Given the description of an element on the screen output the (x, y) to click on. 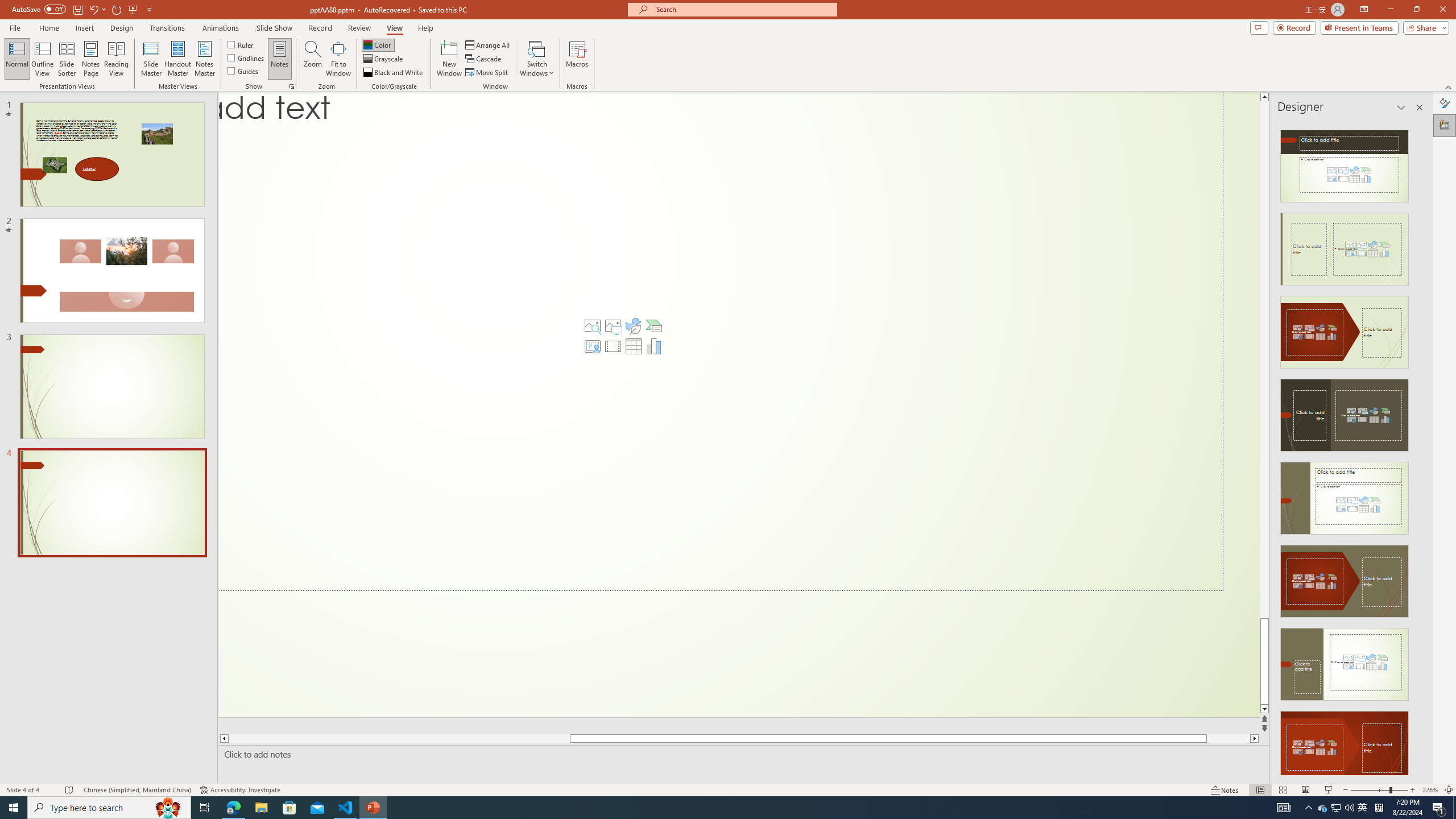
Gridlines (246, 56)
Color (377, 44)
New Window (449, 58)
Macros (576, 58)
